Given the description of an element on the screen output the (x, y) to click on. 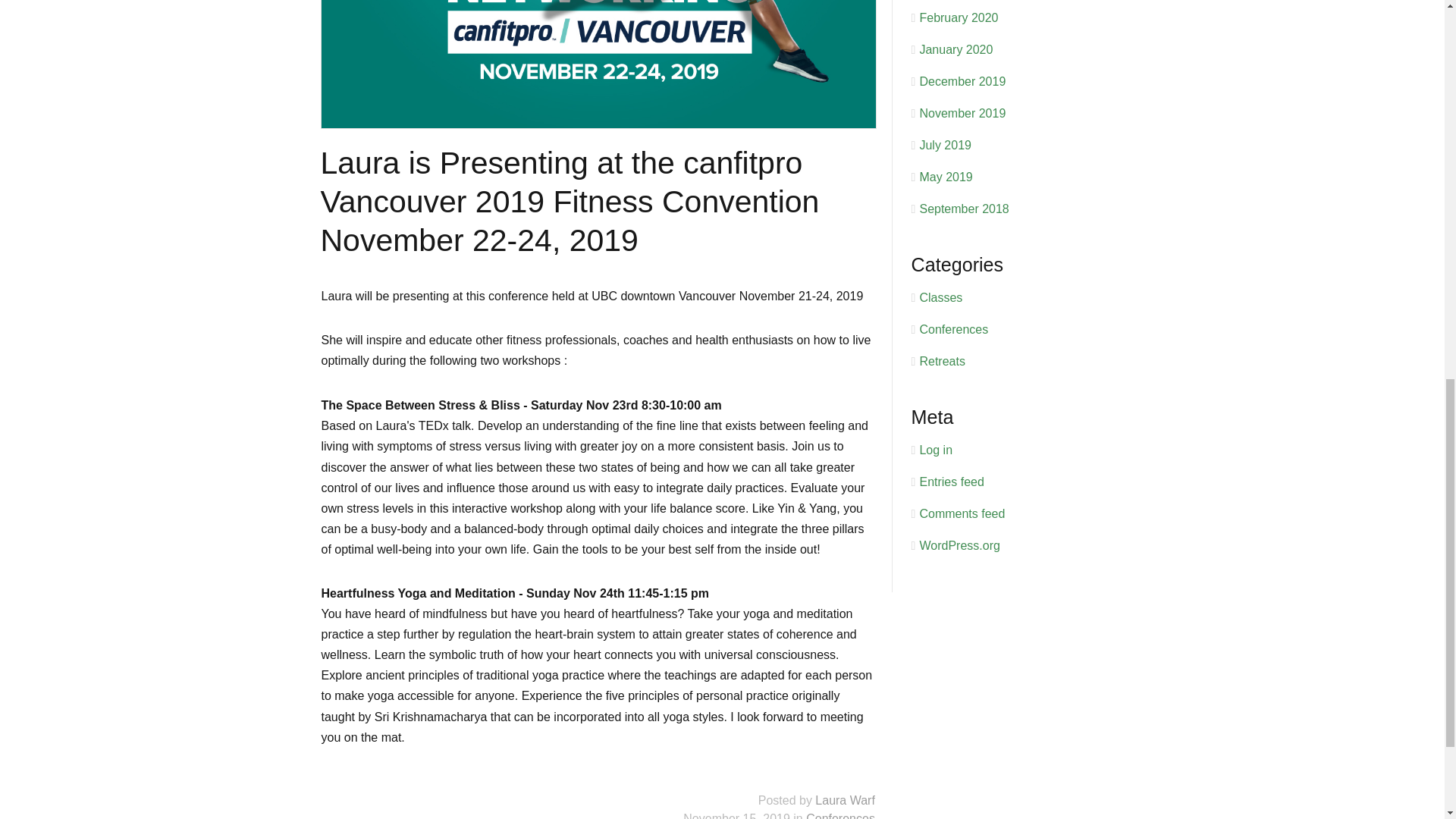
July 2019 (944, 144)
Comments feed (961, 513)
Log in (935, 449)
January 2020 (955, 49)
Classes (940, 297)
vancouver-presenting (598, 63)
Conferences (953, 328)
November 2019 (962, 113)
Laura Warf (845, 799)
December 2019 (962, 81)
Entries feed (951, 481)
February 2020 (957, 17)
September 2018 (963, 208)
Conferences (840, 815)
Retreats (940, 360)
